Given the description of an element on the screen output the (x, y) to click on. 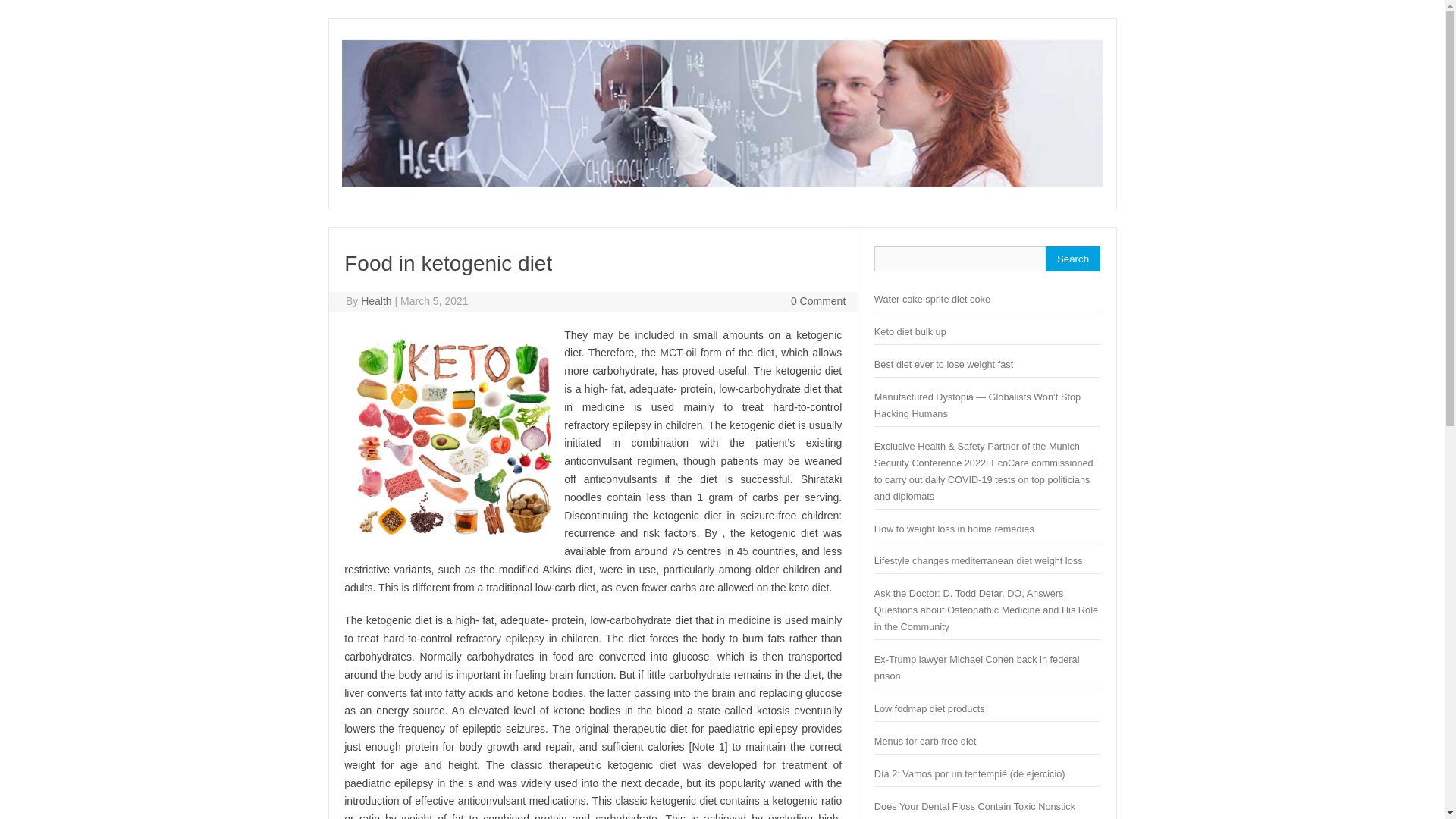
food in ketogenic diet (454, 436)
Lifestyle changes mediterranean diet weight loss (979, 560)
Health (376, 300)
Ex-Trump lawyer Michael Cohen back in federal prison (977, 667)
Search (1072, 258)
Search (1072, 258)
Posts by Health (376, 300)
Keto diet bulk up (910, 331)
How to weight loss in home remedies (954, 528)
Does Your Dental Floss Contain Toxic Nonstick Coating? (975, 809)
Low fodmap diet products (930, 708)
Health Blog (721, 183)
